Given the description of an element on the screen output the (x, y) to click on. 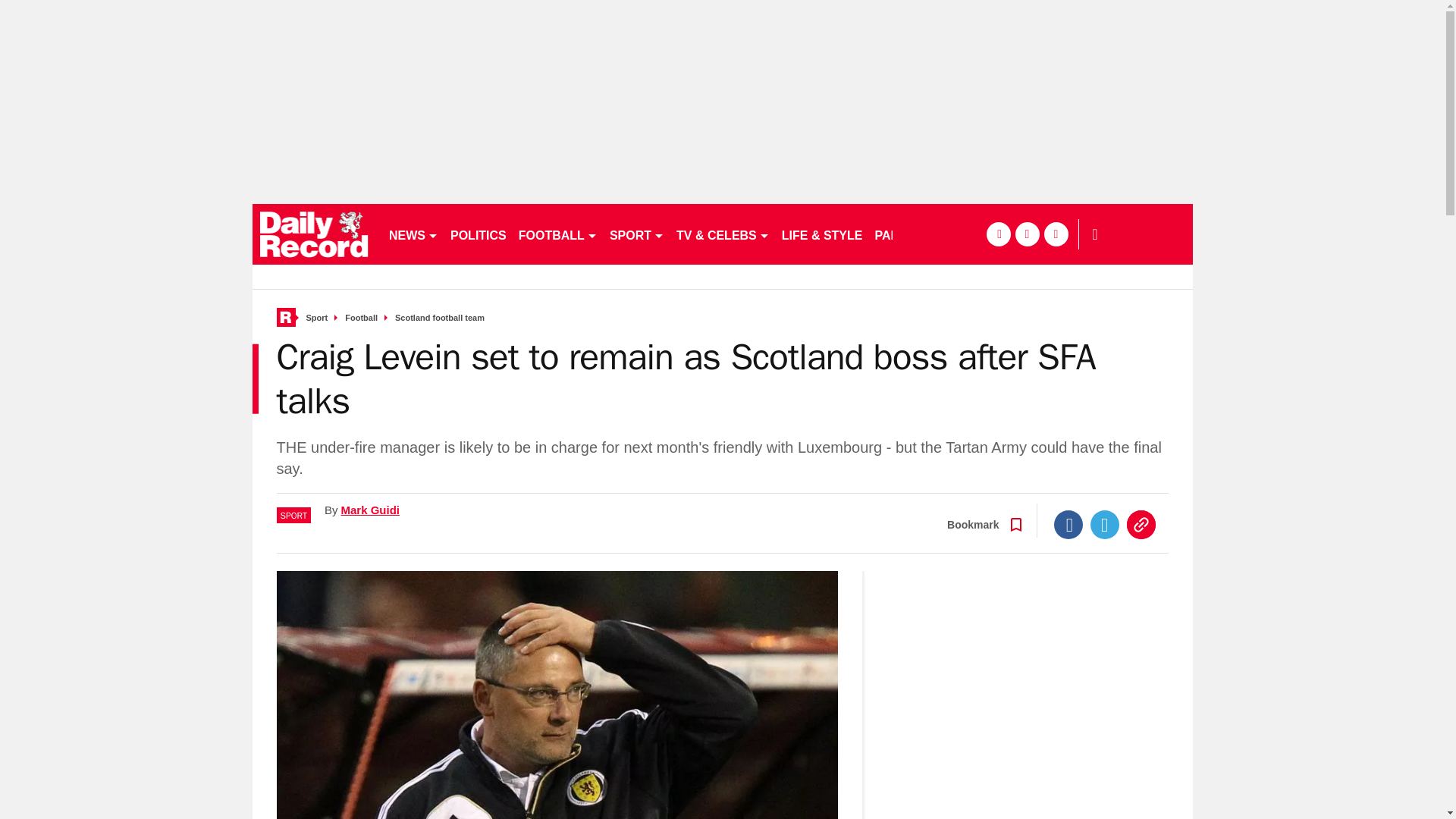
SPORT (636, 233)
NEWS (413, 233)
dailyrecord (313, 233)
facebook (997, 233)
twitter (1026, 233)
POLITICS (478, 233)
Facebook (1068, 524)
Twitter (1104, 524)
instagram (1055, 233)
FOOTBALL (558, 233)
